Given the description of an element on the screen output the (x, y) to click on. 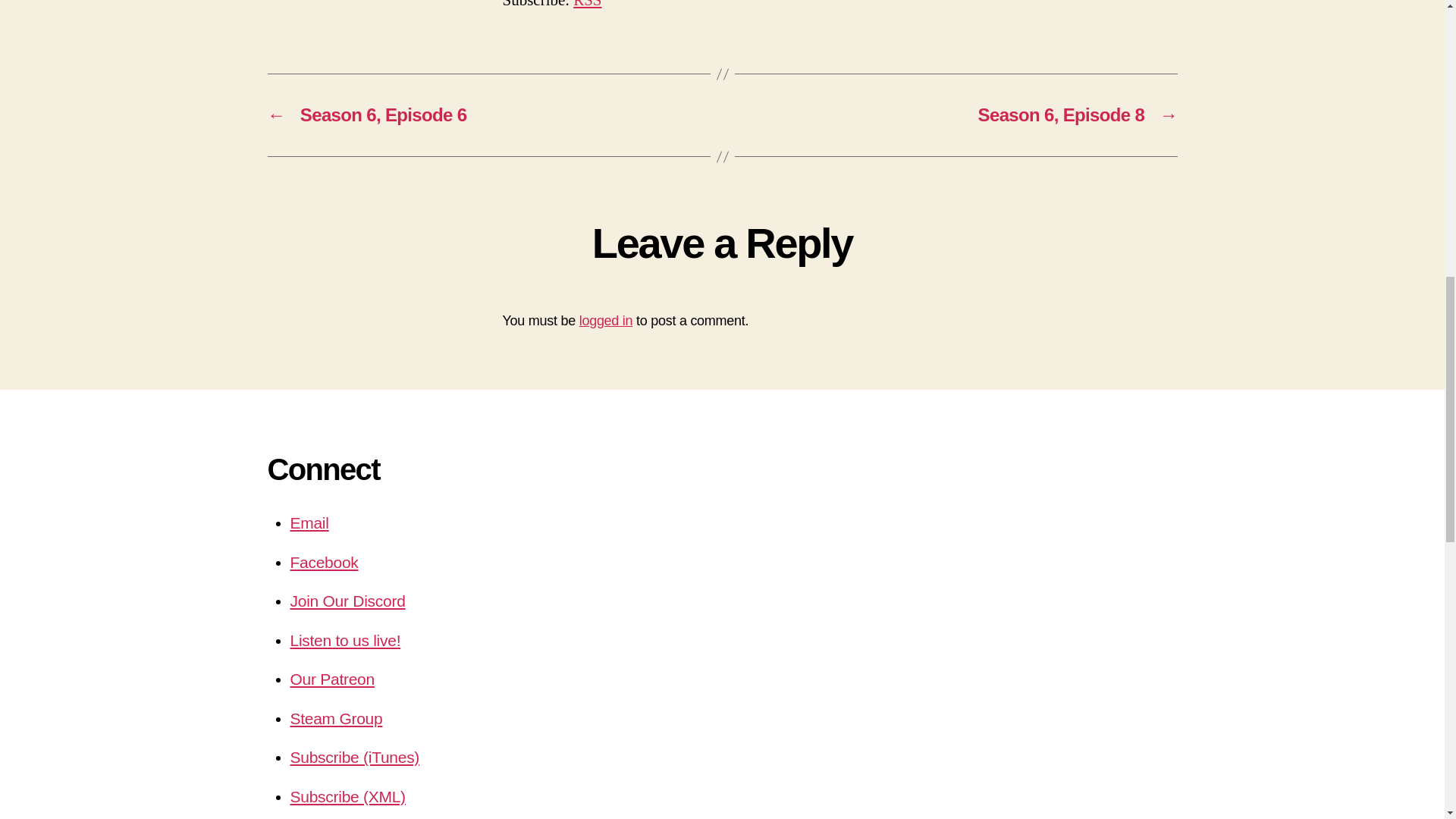
Connect with us on Facebook. (323, 561)
Listen to us live! (344, 640)
Email (309, 522)
Subscribe via RSS (587, 5)
Join Our Discord (346, 600)
Facebook (323, 561)
Send the hosts an email. (309, 522)
Subscribe to the In-Game Chat podcast. (346, 796)
Steam Group (335, 718)
Click Here To Support Us (331, 678)
logged in (606, 320)
Listen Live Saturday Evenings 4-6 CST (344, 640)
Subscribe to the In-Game Chat podcast using iTunes. (354, 756)
Our Patreon (331, 678)
Come play with us and our listeners. (335, 718)
